Given the description of an element on the screen output the (x, y) to click on. 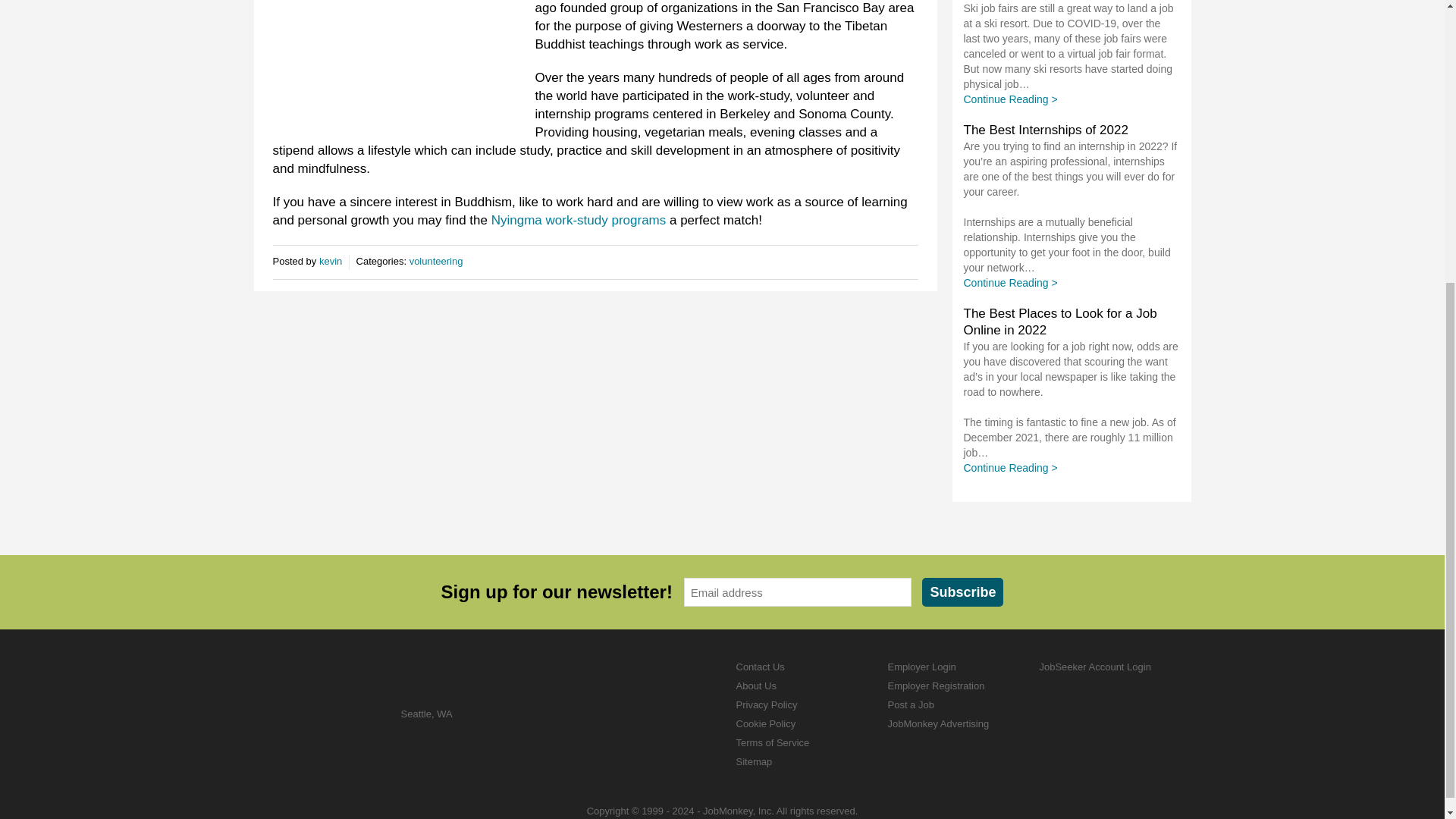
Subscribe (962, 592)
